Given the description of an element on the screen output the (x, y) to click on. 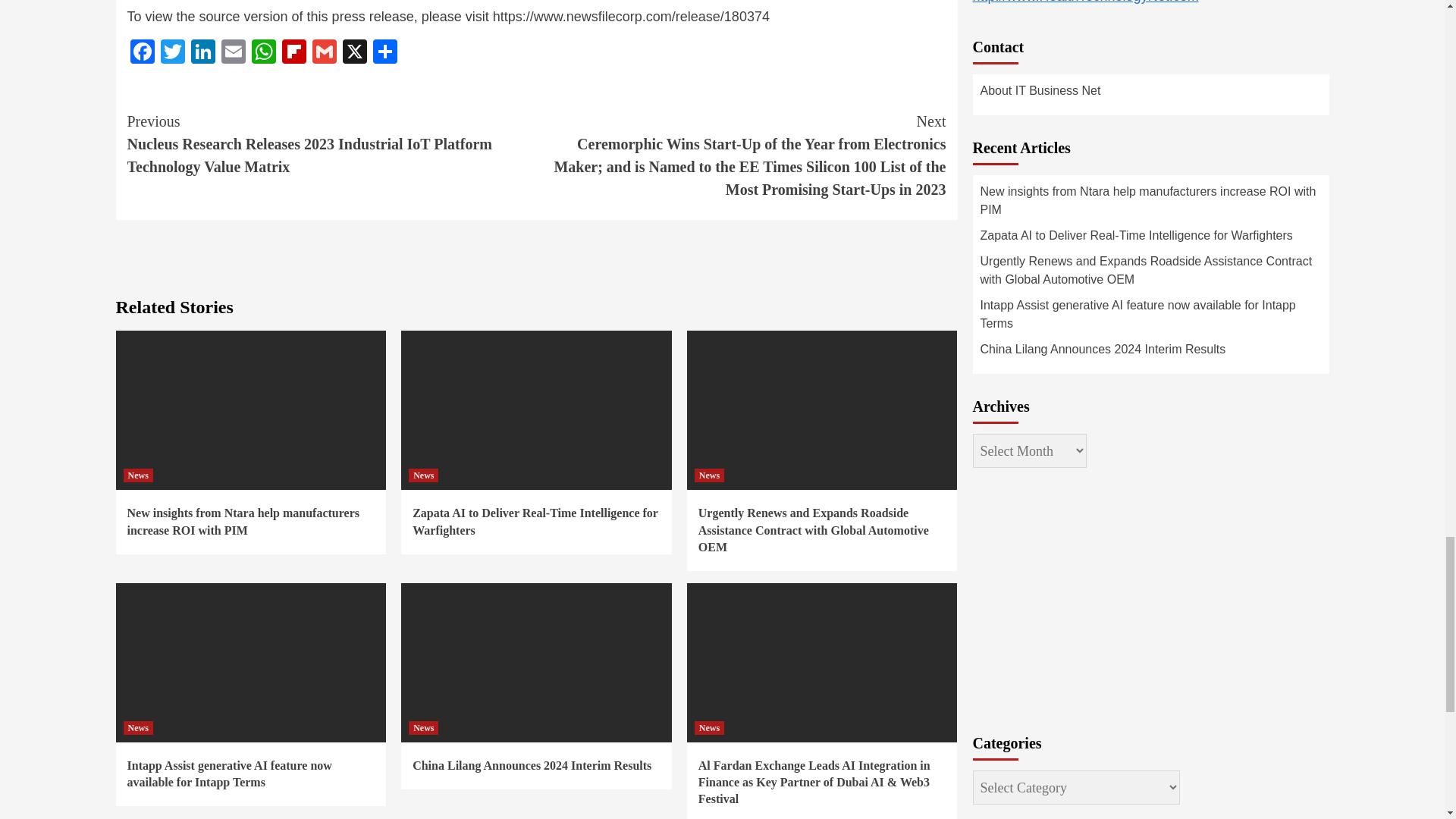
WhatsApp (263, 53)
Gmail (323, 53)
Facebook (142, 53)
Twitter (172, 53)
WhatsApp (263, 53)
Share (384, 53)
X (354, 53)
Email (233, 53)
Email (233, 53)
